Given the description of an element on the screen output the (x, y) to click on. 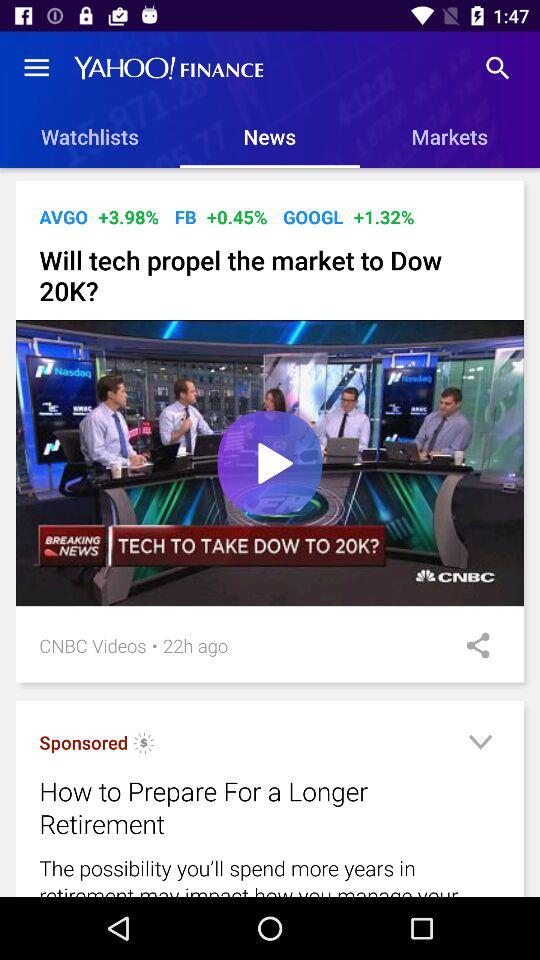
open item next to +0.45% icon (185, 216)
